Given the description of an element on the screen output the (x, y) to click on. 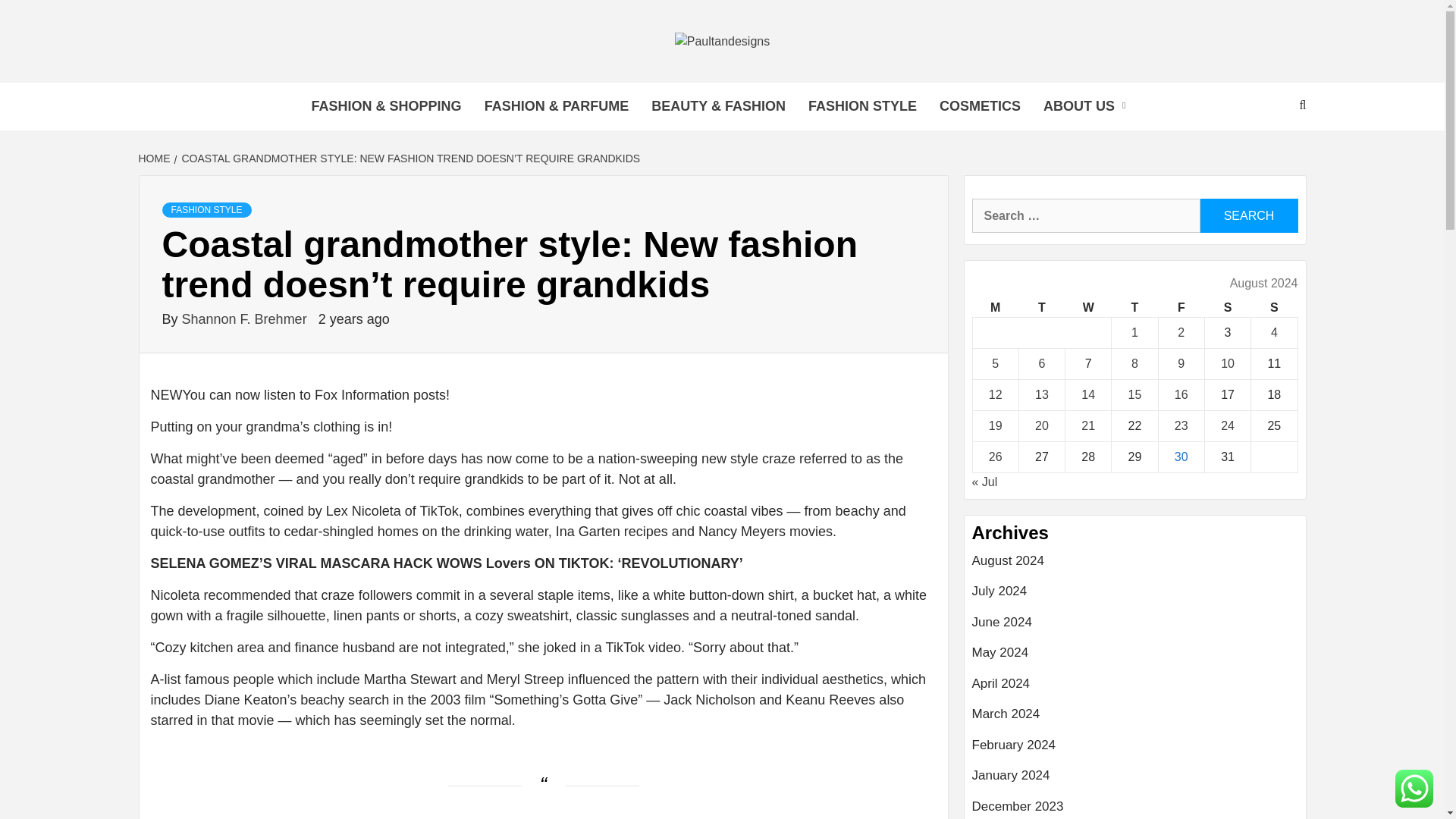
Friday (1180, 307)
Monday (994, 307)
FASHION STYLE (862, 106)
Tuesday (1040, 307)
Wednesday (1088, 307)
Saturday (1227, 307)
ABOUT US (1088, 106)
FASHION STYLE (206, 209)
PAULTANDESIGNS (485, 88)
HOME (155, 158)
